Given the description of an element on the screen output the (x, y) to click on. 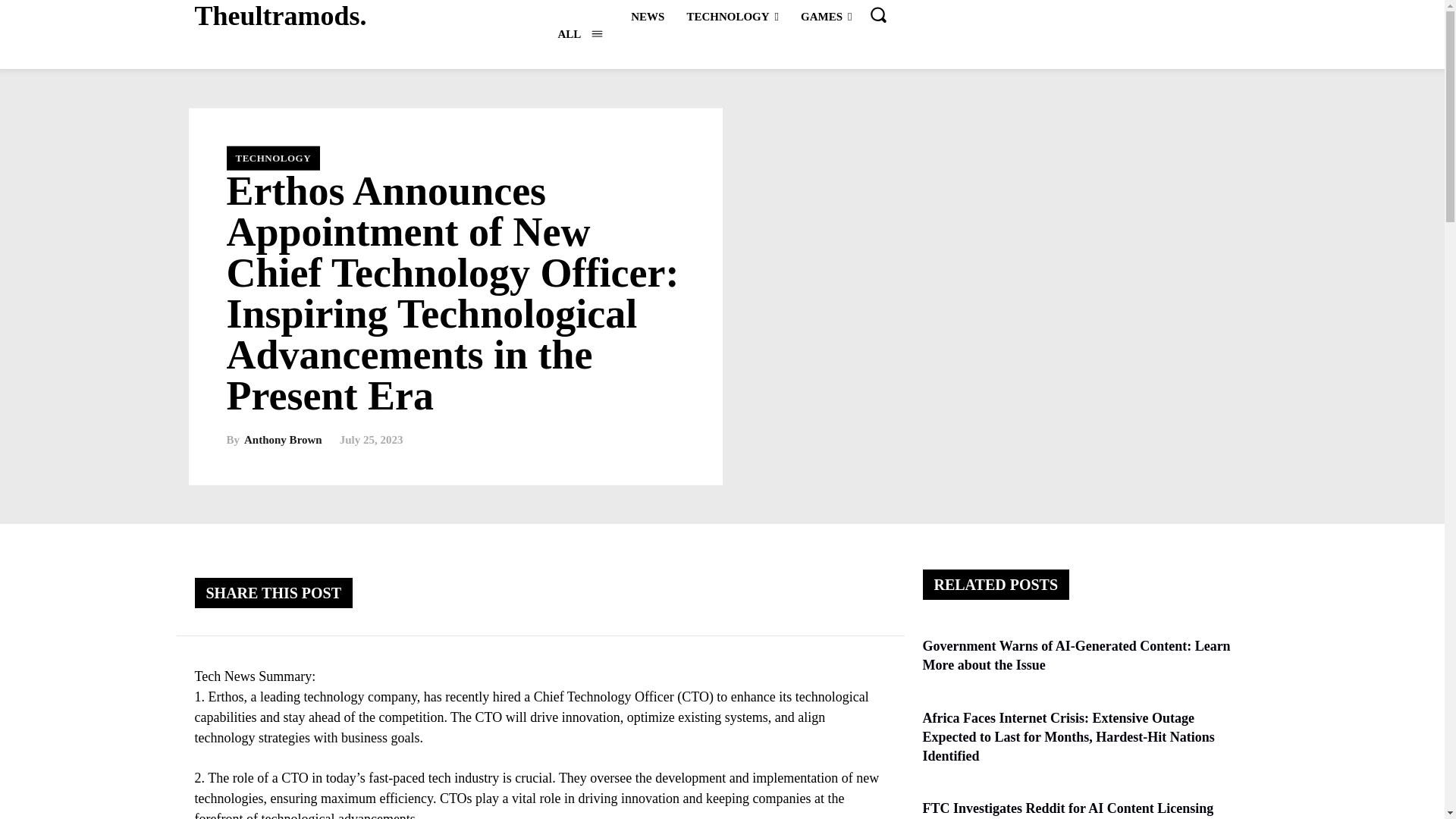
Theultramods. (279, 16)
NEWS (646, 15)
All (579, 33)
TECHNOLOGY (732, 15)
ALL (579, 33)
